Given the description of an element on the screen output the (x, y) to click on. 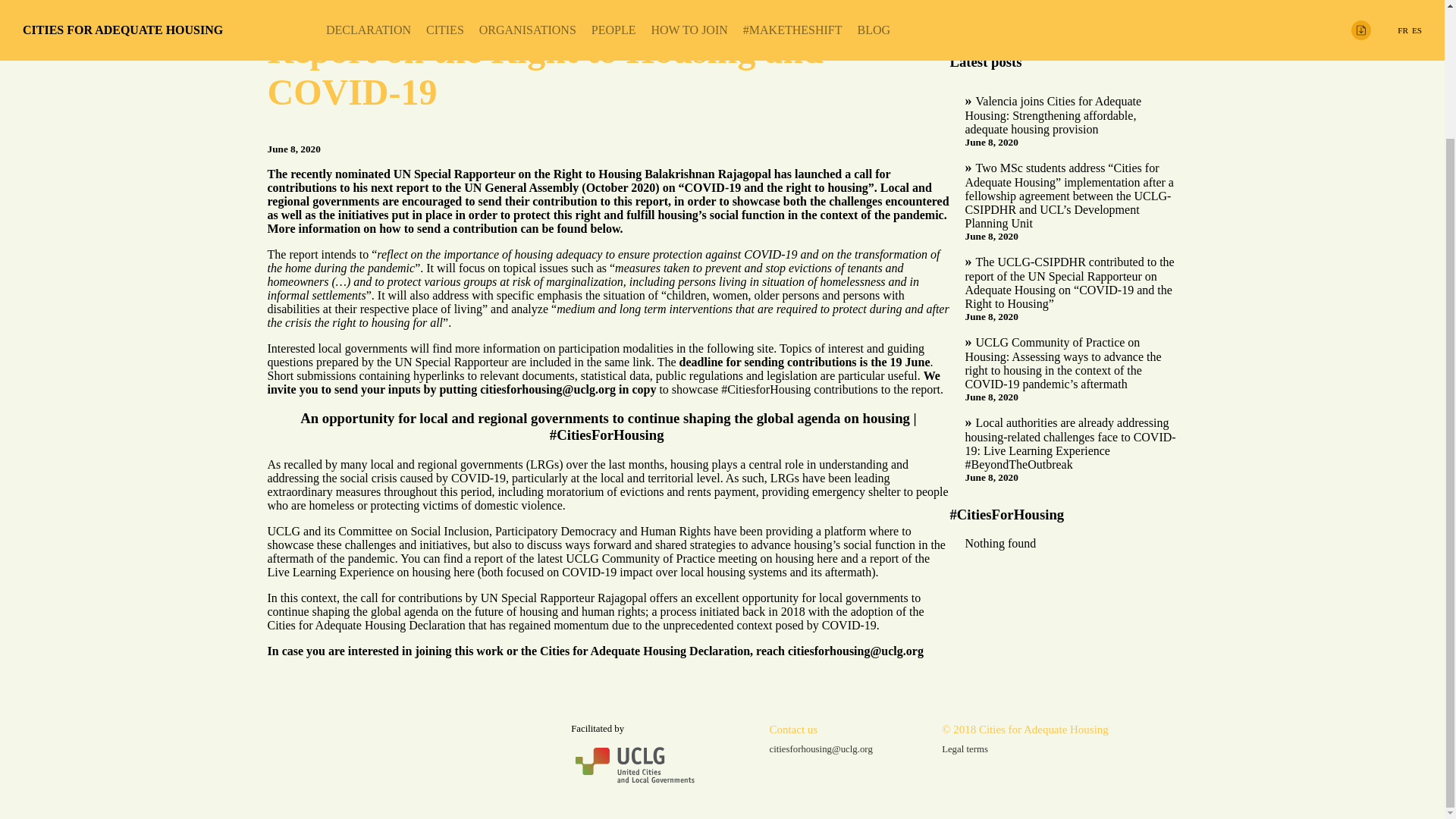
Legal terms (1025, 749)
here (463, 571)
in the following site (725, 348)
